Given the description of an element on the screen output the (x, y) to click on. 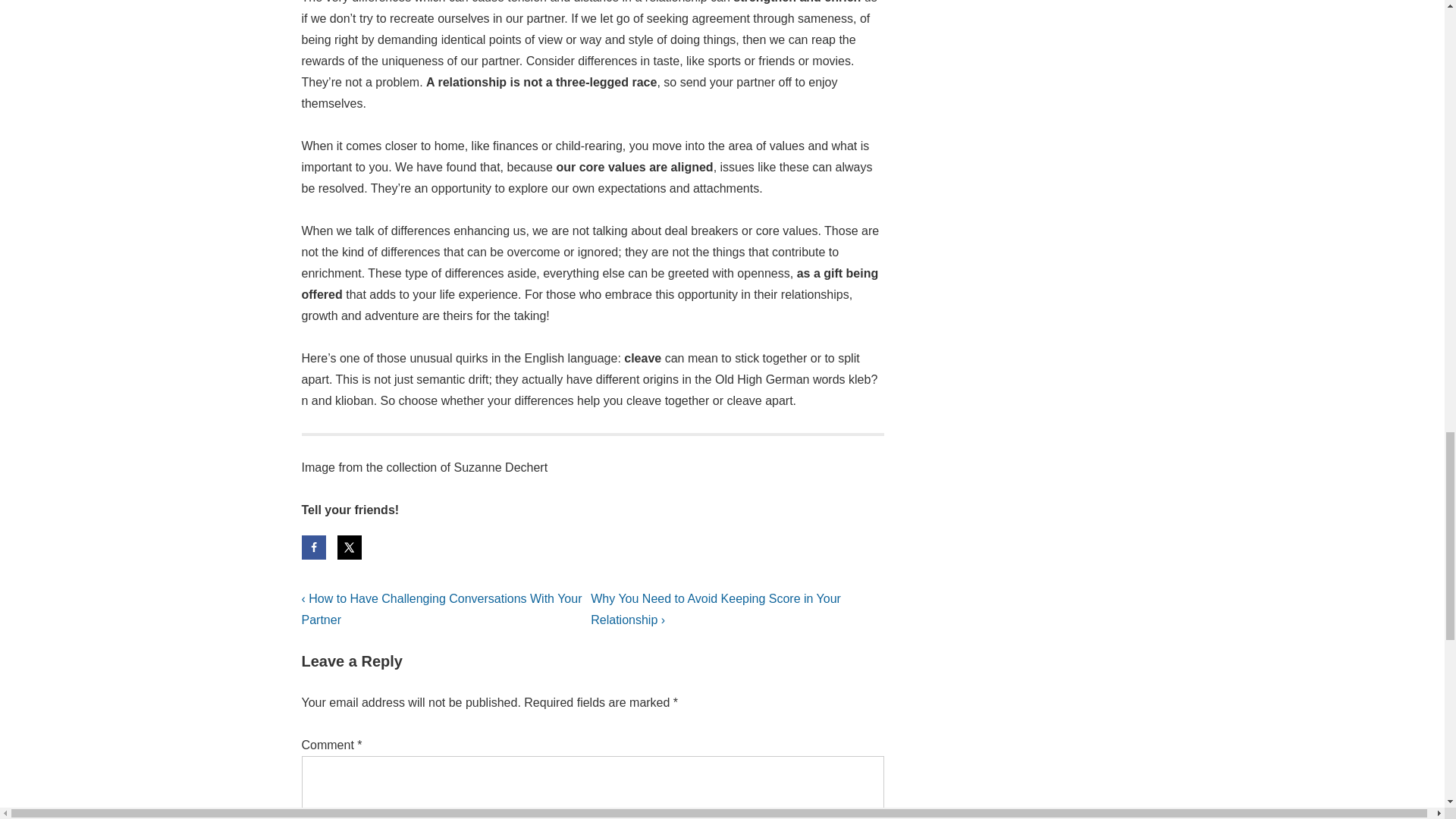
Share on Facebook (313, 547)
Share on X (349, 547)
